Given the description of an element on the screen output the (x, y) to click on. 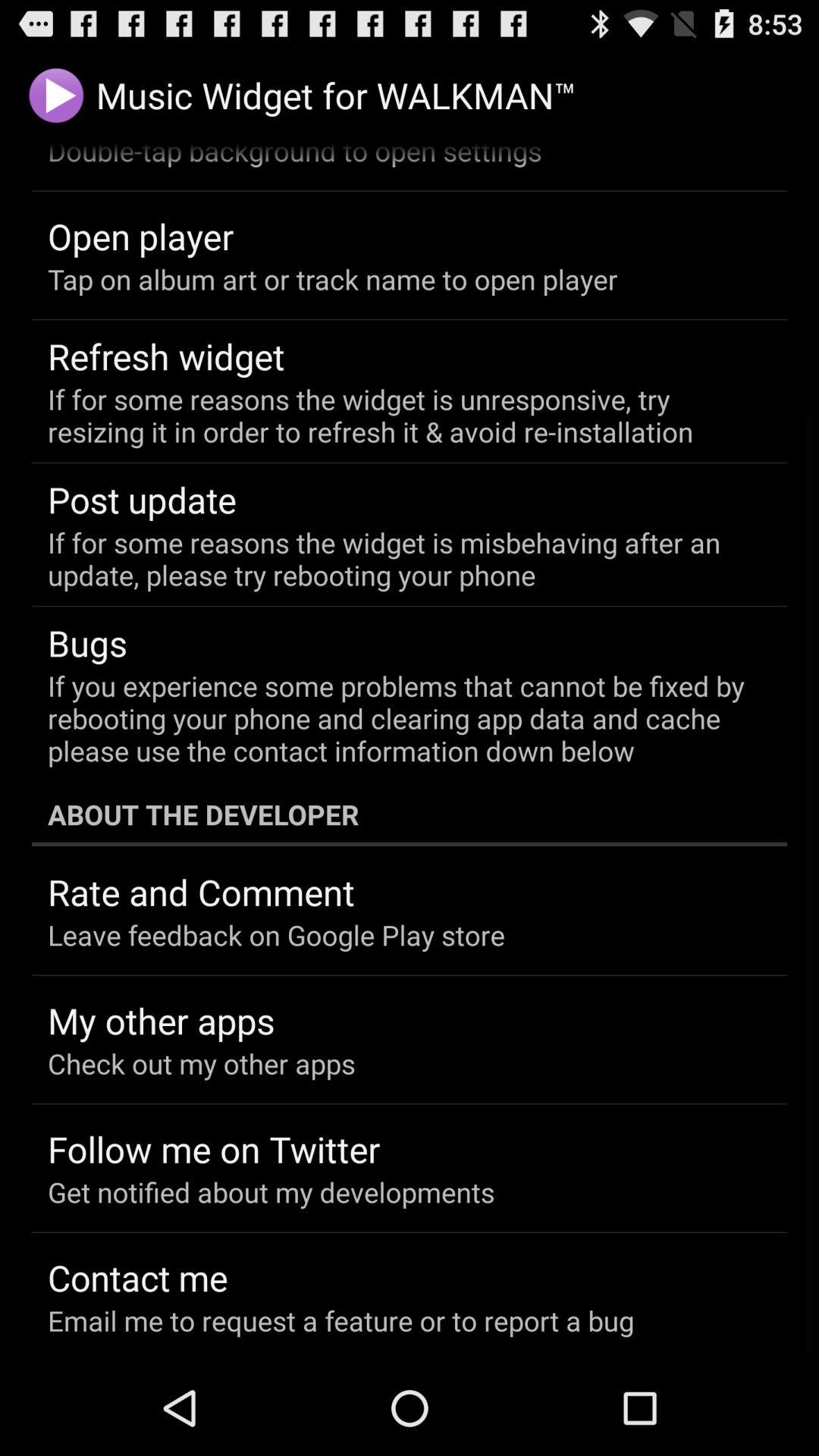
turn on the app above refresh widget app (332, 279)
